Given the description of an element on the screen output the (x, y) to click on. 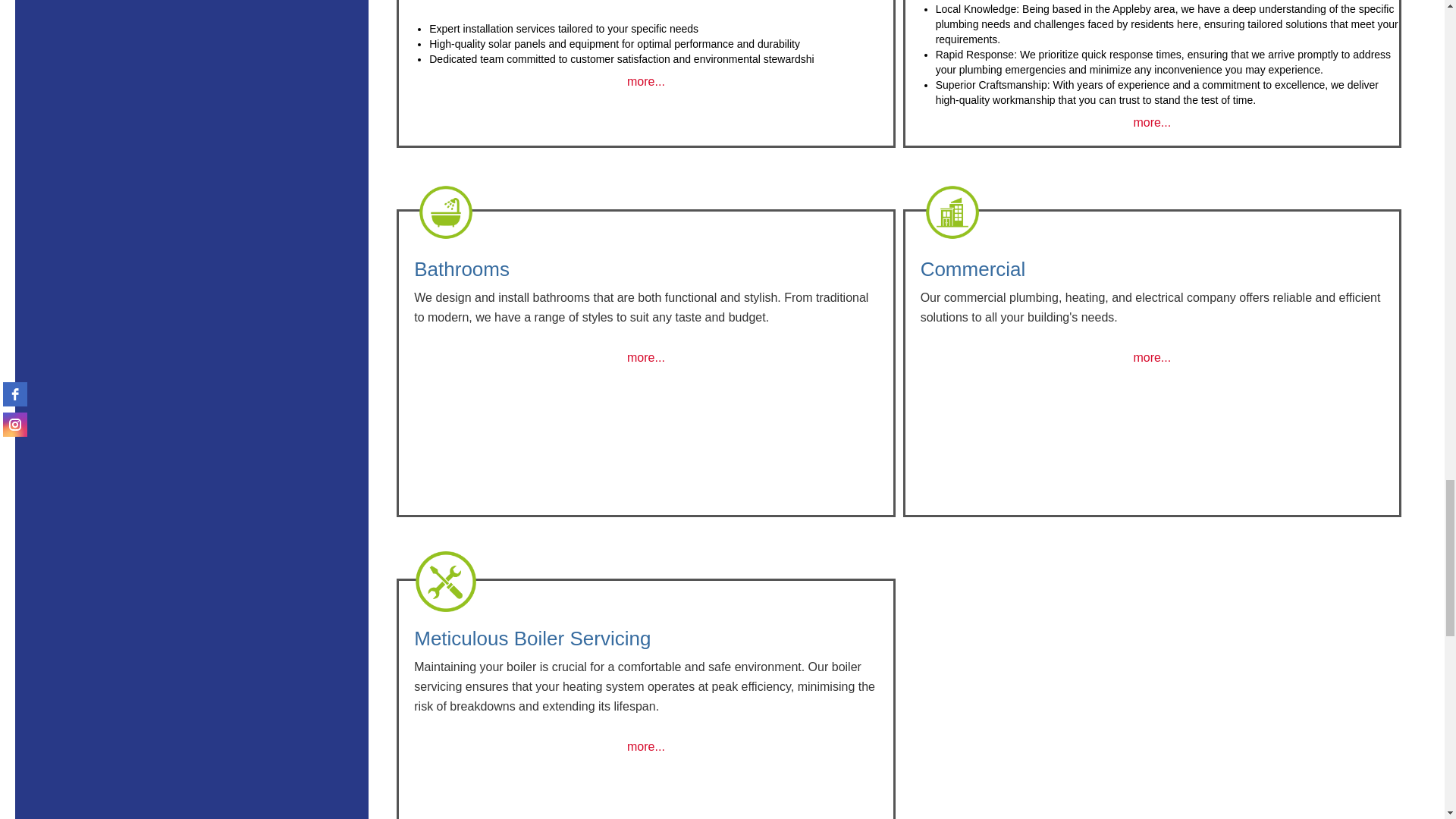
more... (646, 357)
more... (646, 81)
more... (1151, 357)
more... (646, 746)
more... (1151, 122)
